Given the description of an element on the screen output the (x, y) to click on. 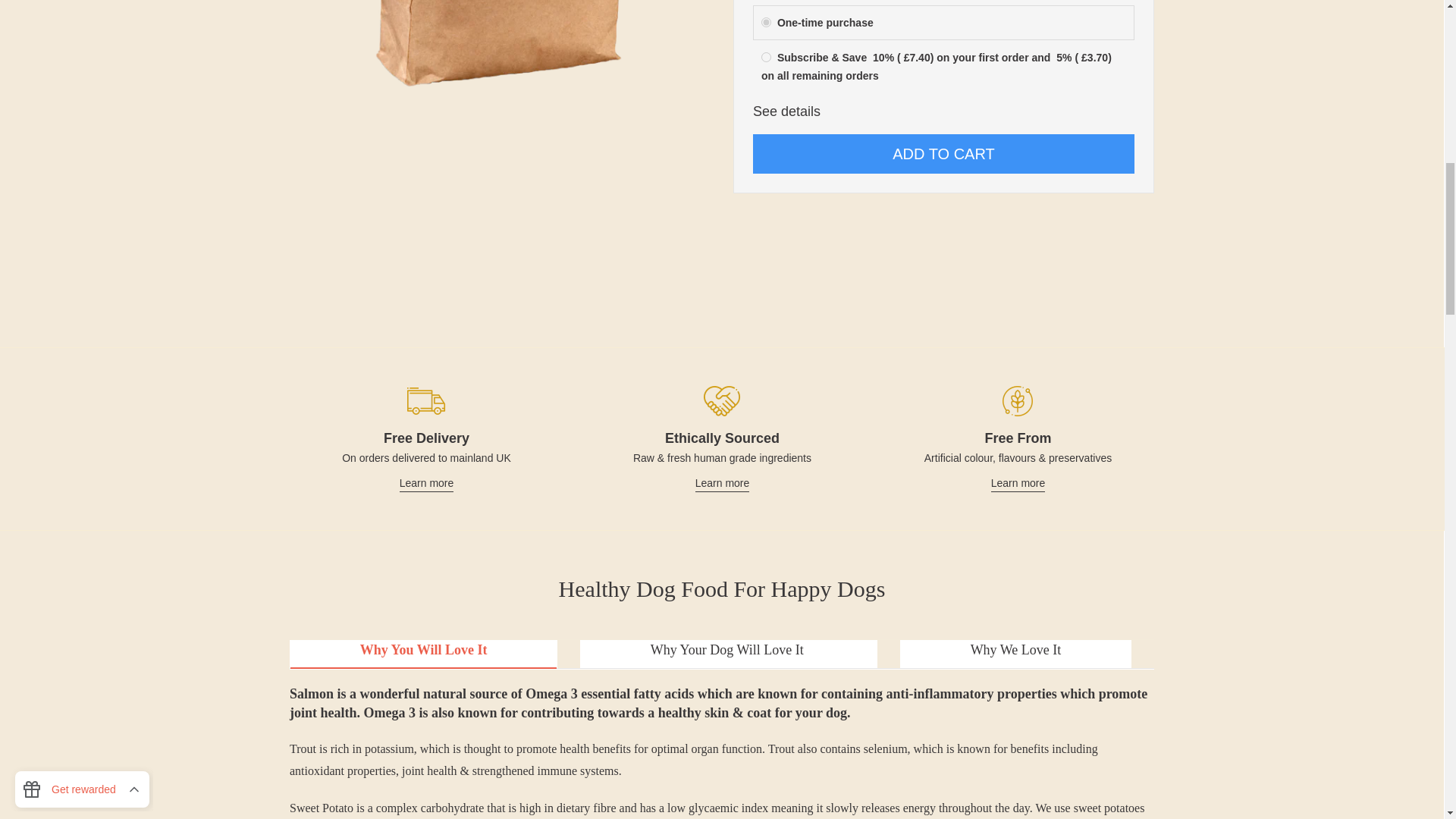
0 (766, 22)
2 (766, 57)
